Given the description of an element on the screen output the (x, y) to click on. 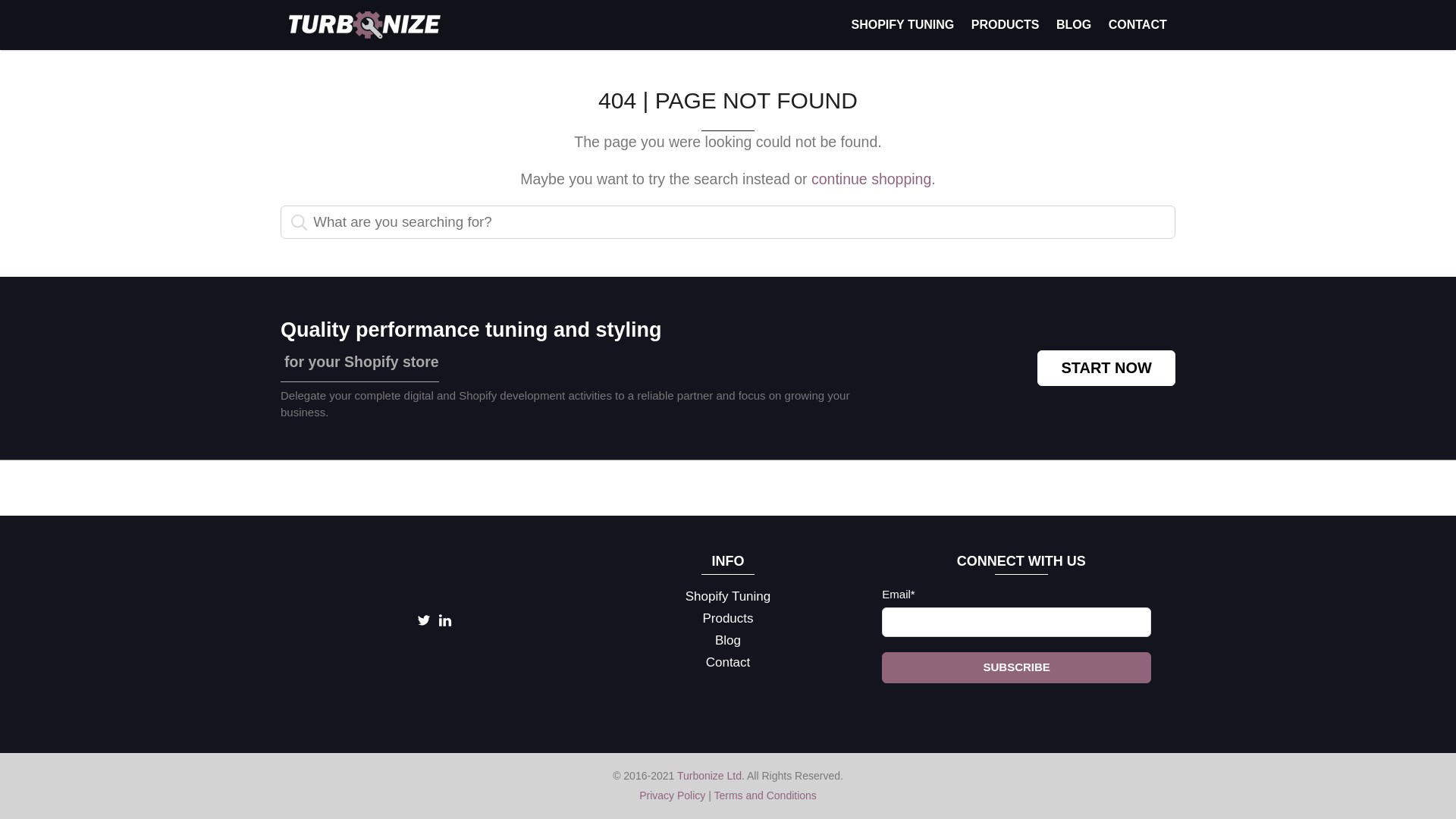
START NOW (1105, 367)
PRODUCTS (1004, 24)
Turbonize (434, 575)
Products (727, 618)
Turbonize on LinkedIn (444, 622)
Contact (727, 662)
Turbonize on Twitter (423, 622)
Blog (727, 640)
BLOG (1074, 24)
Shopify Tuning (727, 597)
Privacy Policy (671, 795)
Terms and Conditions (764, 795)
SUBSCRIBE (1016, 667)
CONTACT (1136, 24)
Turbonize (364, 24)
